Given the description of an element on the screen output the (x, y) to click on. 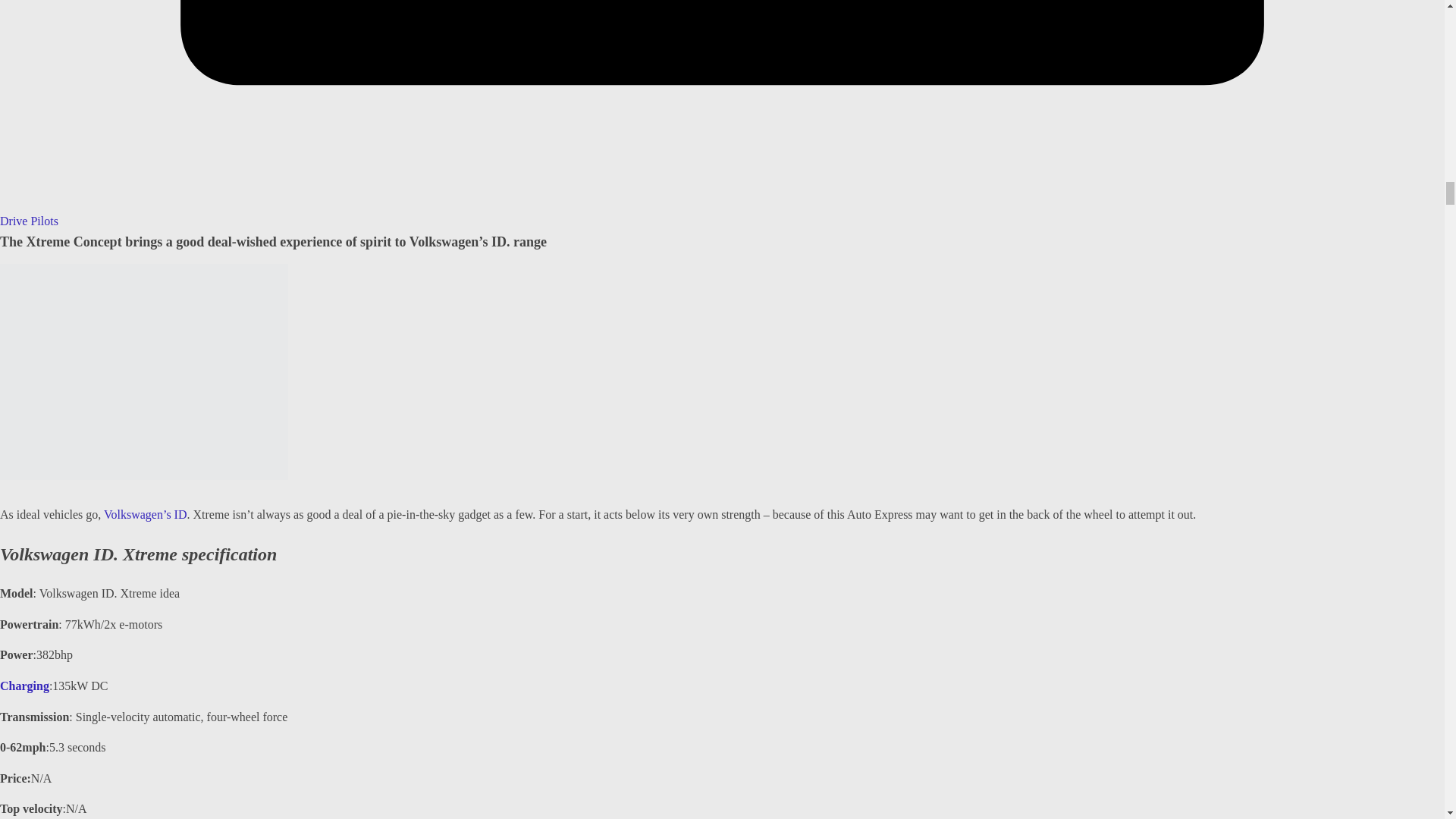
Drive Pilots (29, 220)
New Volkswagen ID. Xtreme idea review 2 (144, 371)
Charging (24, 685)
Drive Pilots (29, 220)
